Given the description of an element on the screen output the (x, y) to click on. 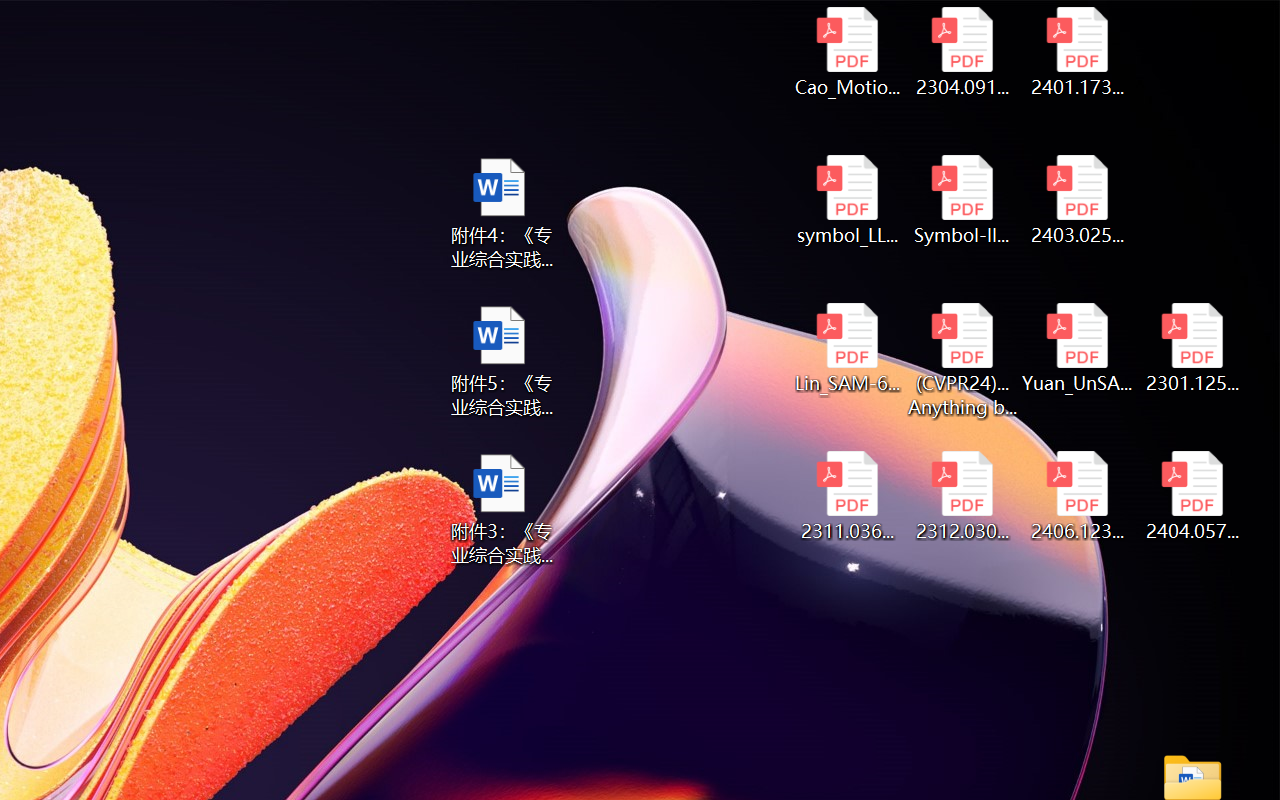
2301.12597v3.pdf (1192, 348)
